Given the description of an element on the screen output the (x, y) to click on. 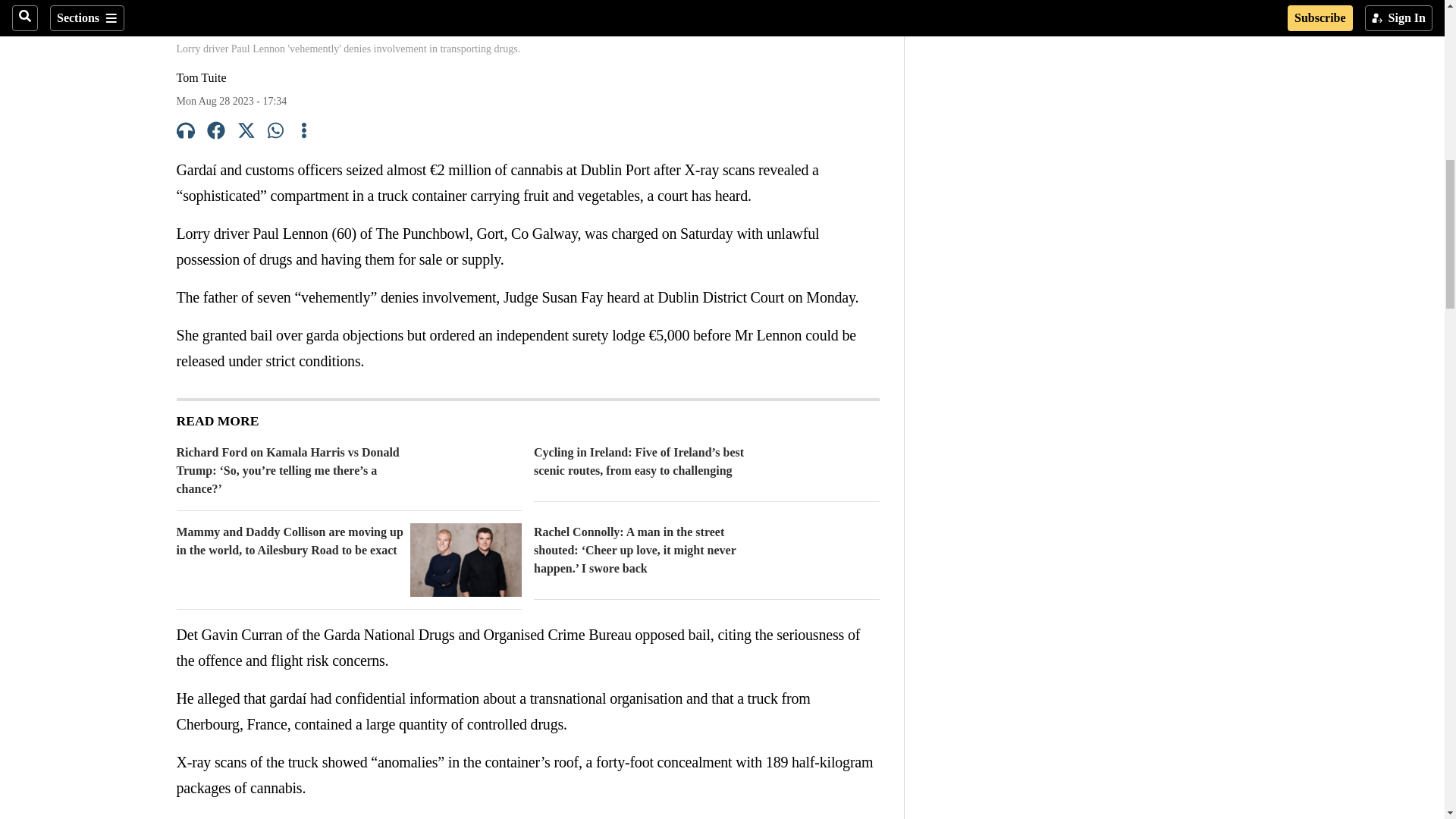
X (244, 132)
WhatsApp (275, 132)
Facebook (215, 132)
